Given the description of an element on the screen output the (x, y) to click on. 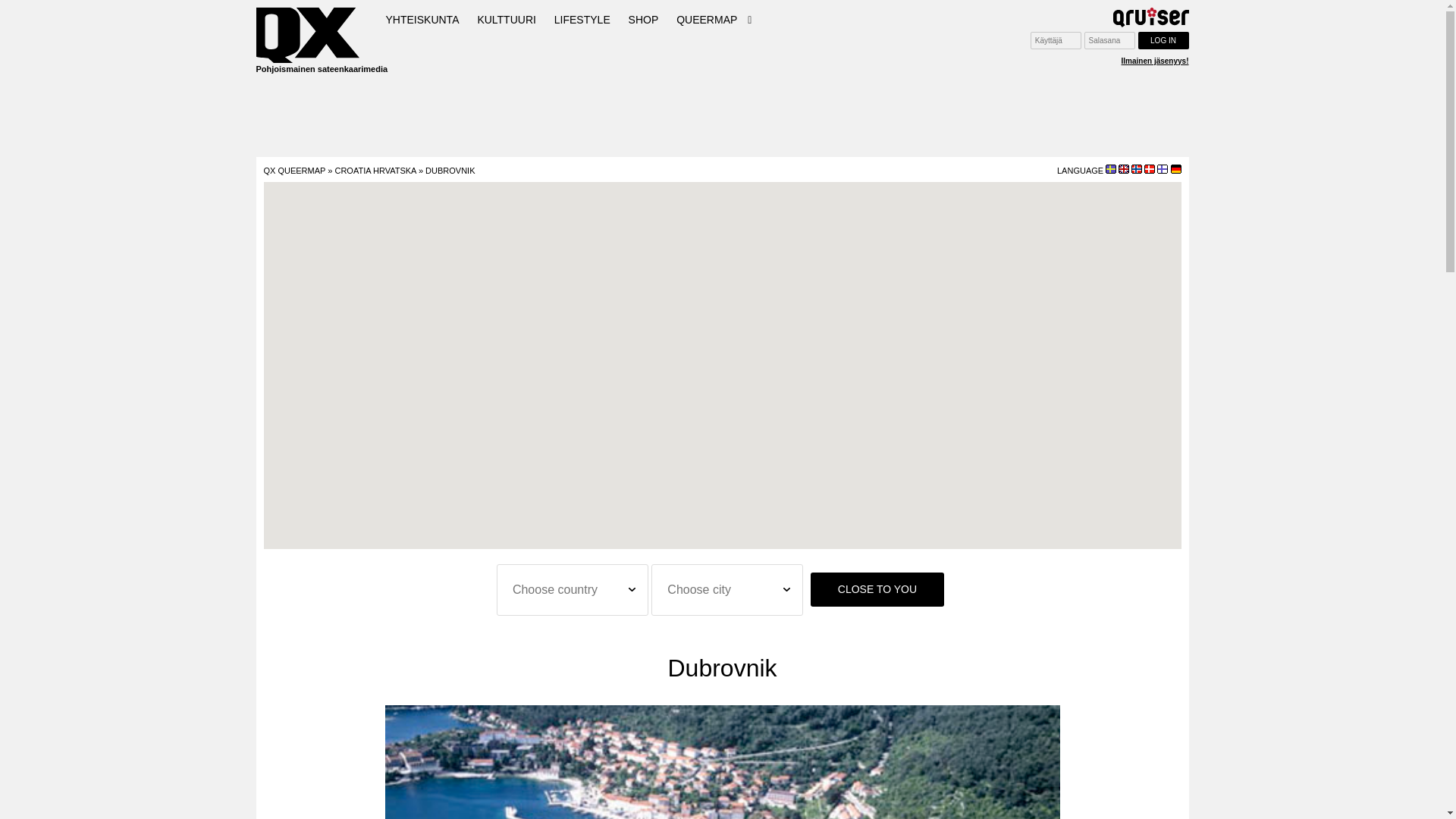
SHOP (643, 19)
LIFESTYLE (582, 19)
Log in (1162, 40)
KULTTUURI (505, 19)
QX QUEERMAP (294, 170)
Log in (1162, 40)
Pohjoismainen sateenkaarimedia (309, 41)
YHTEISKUNTA (421, 19)
CROATIA HRVATSKA (374, 170)
DUBROVNIK (449, 170)
